Given the description of an element on the screen output the (x, y) to click on. 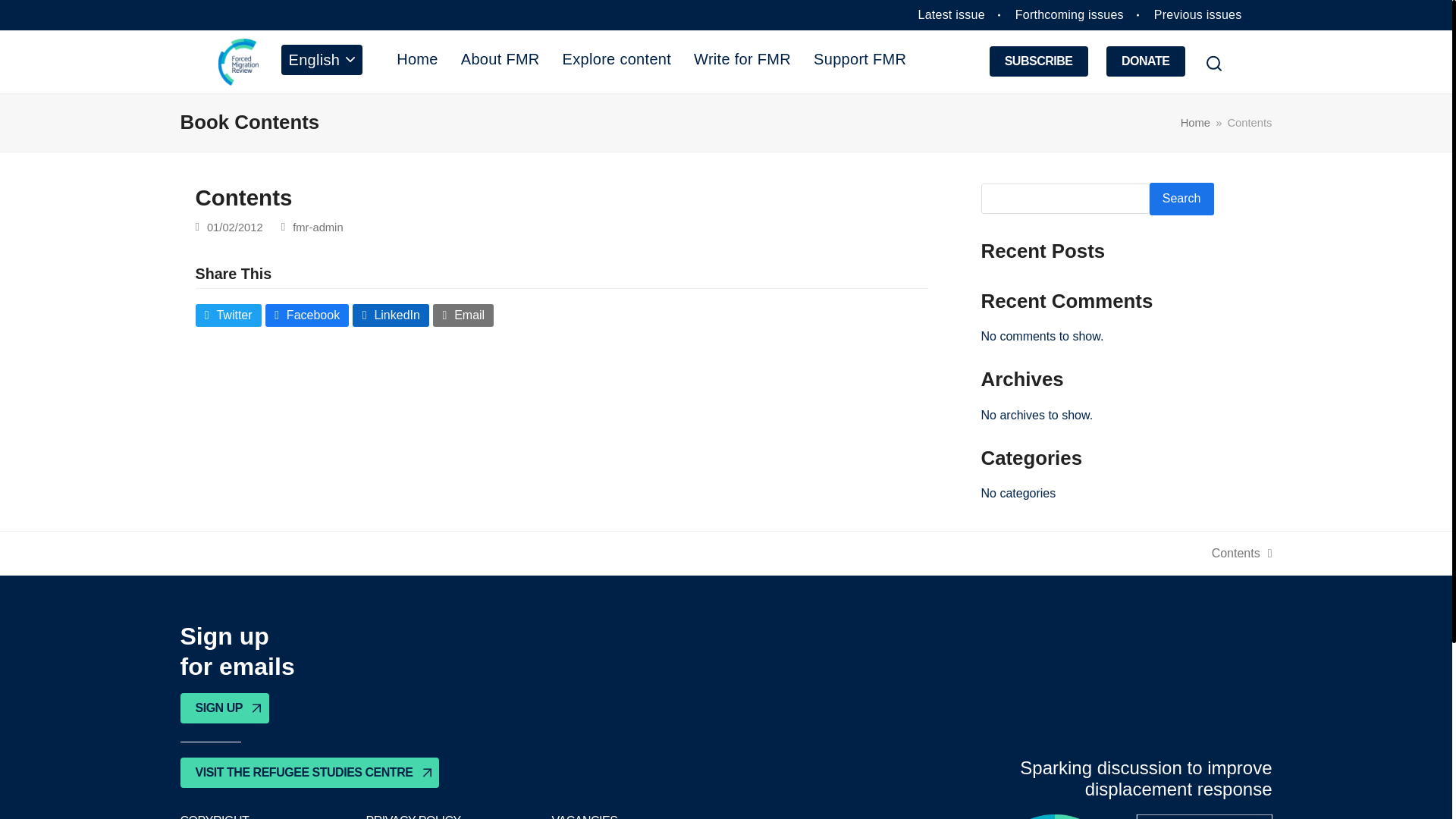
Explore content (616, 58)
Twitter (228, 314)
Email (462, 314)
Latest issue (951, 14)
VISIT THE REFUGEE STUDIES CENTRE (309, 772)
Forthcoming issues (1069, 14)
Search (1182, 199)
English (321, 59)
About FMR (500, 58)
Latest issue (951, 14)
Home (1194, 122)
DONATE (1145, 60)
Facebook (1241, 553)
Posts by fmr-admin (306, 314)
